Given the description of an element on the screen output the (x, y) to click on. 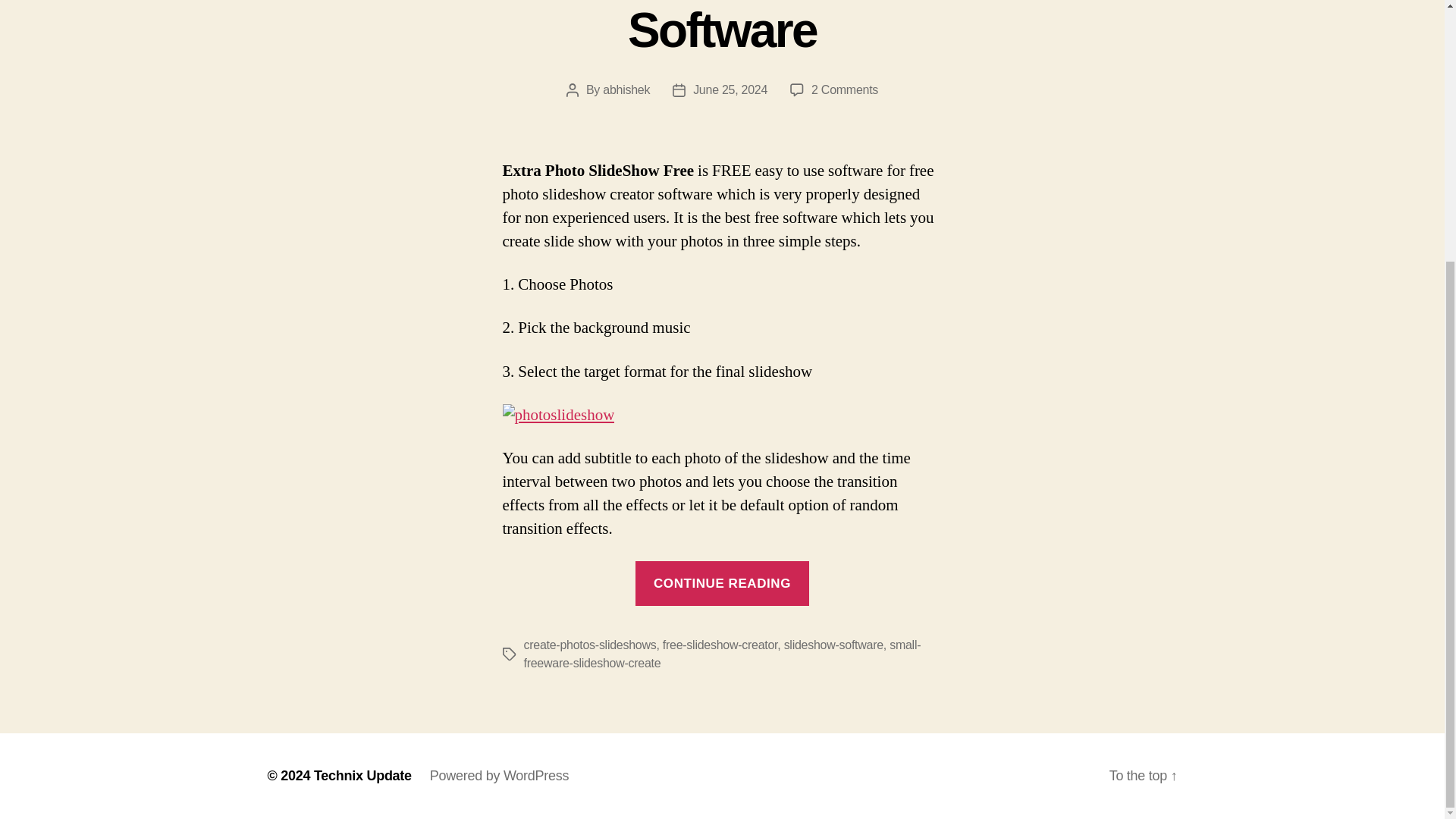
June 25, 2024 (730, 89)
Powered by WordPress (499, 775)
photoslideshow (558, 415)
free-slideshow-creator (719, 644)
create-photos-slideshows (589, 644)
Technix Update (363, 775)
small-freeware-slideshow-create (721, 653)
slideshow-software (833, 644)
Free Photo Slideshow Creator Software (722, 28)
abhishek (843, 89)
